Given the description of an element on the screen output the (x, y) to click on. 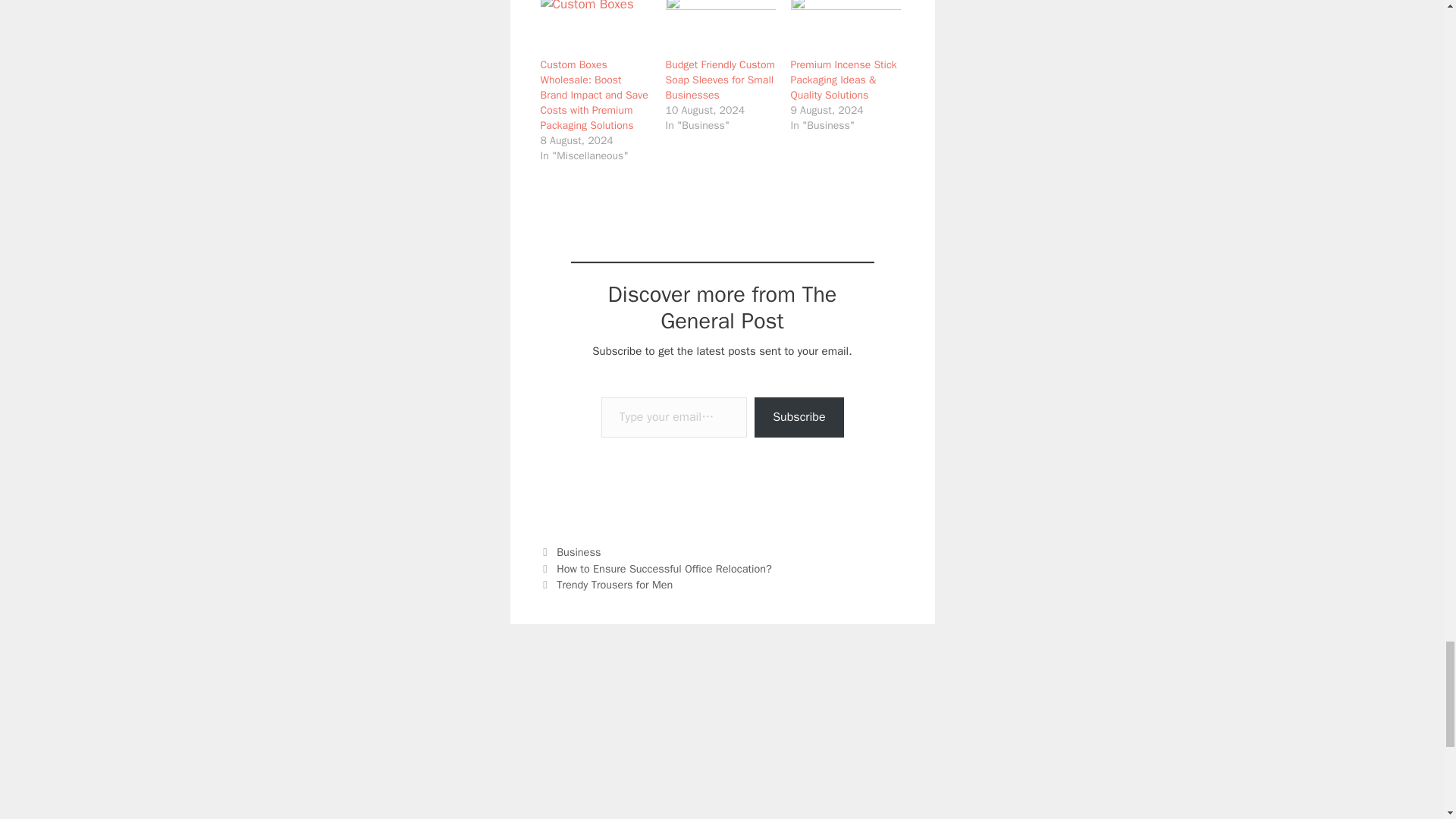
Budget Friendly Custom Soap Sleeves for Small Businesses (720, 28)
Trendy Trousers for Men (614, 584)
How to Ensure Successful Office Relocation? (663, 568)
Budget Friendly Custom Soap Sleeves for Small Businesses (720, 79)
Subscribe (798, 417)
Business (577, 551)
Budget Friendly Custom Soap Sleeves for Small Businesses (720, 79)
